Given the description of an element on the screen output the (x, y) to click on. 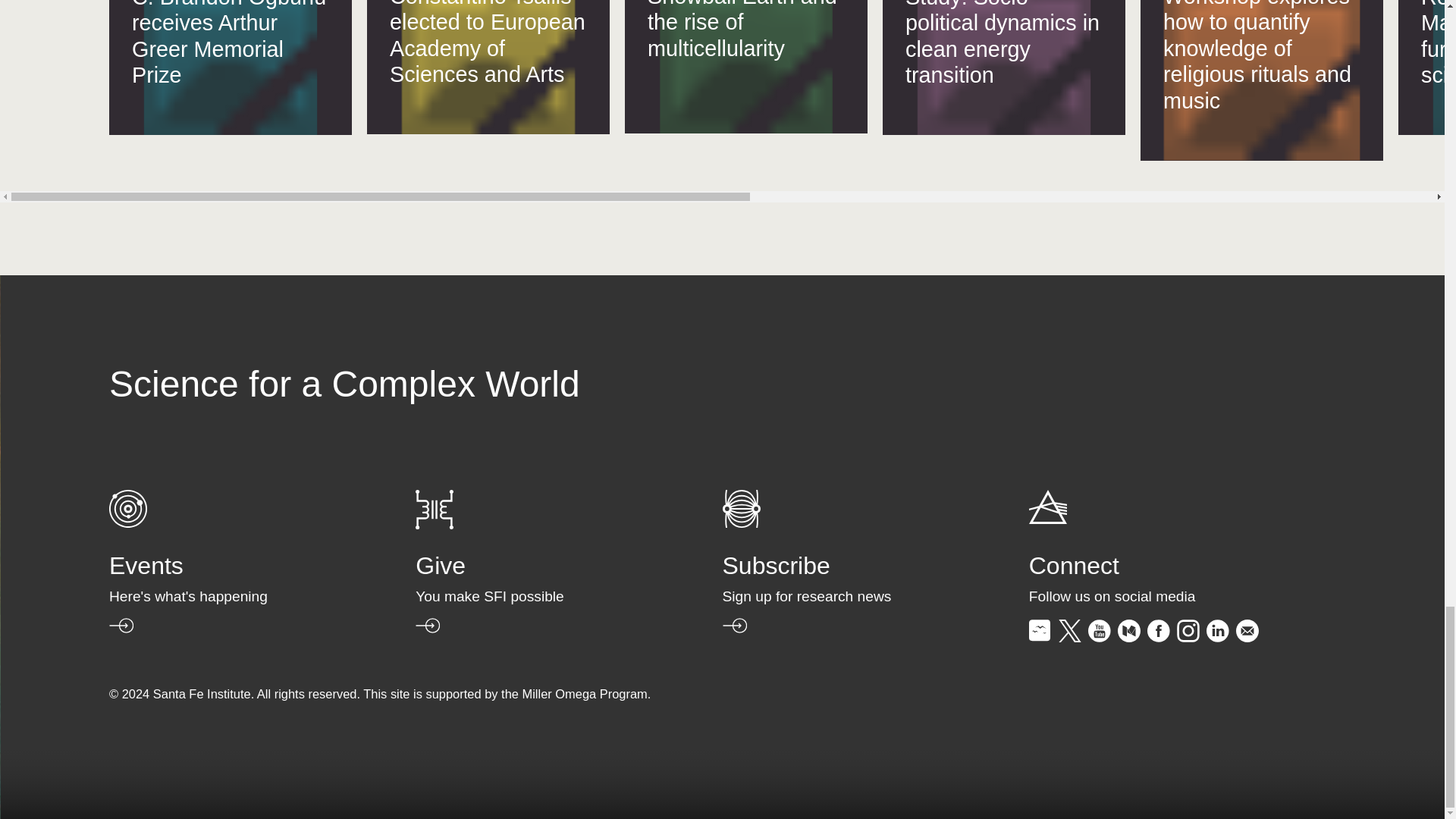
instagram (1187, 636)
facebook (1158, 636)
Give (433, 524)
X (1069, 636)
Events (128, 522)
medium (1129, 636)
Give (532, 594)
contact (1247, 636)
Bluesky (1040, 636)
linkedin (1217, 636)
youtube (1098, 636)
Events (227, 594)
